Given the description of an element on the screen output the (x, y) to click on. 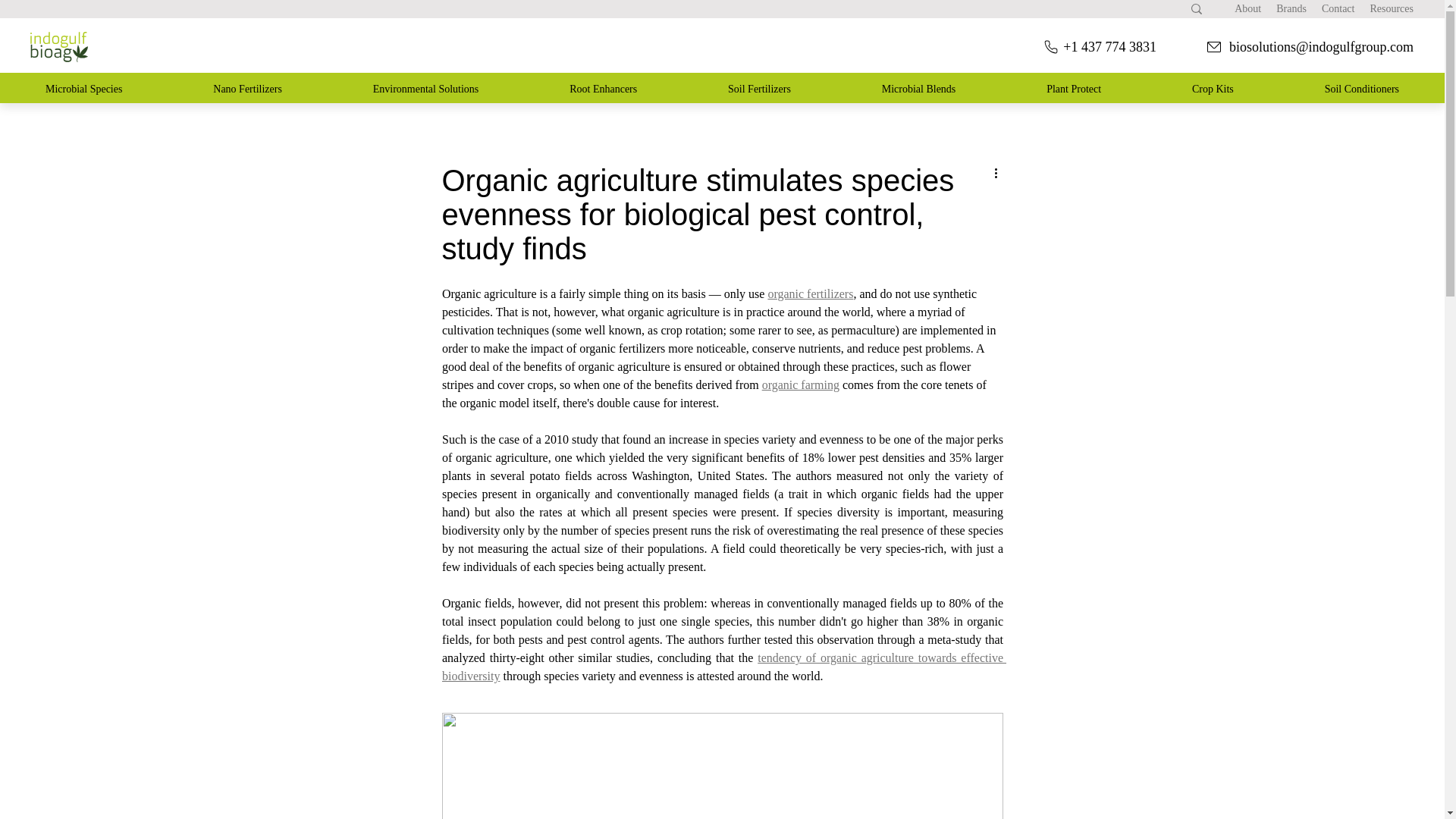
Contact (1338, 9)
Resources (1391, 9)
About (1311, 9)
Brands (1247, 9)
